Given the description of an element on the screen output the (x, y) to click on. 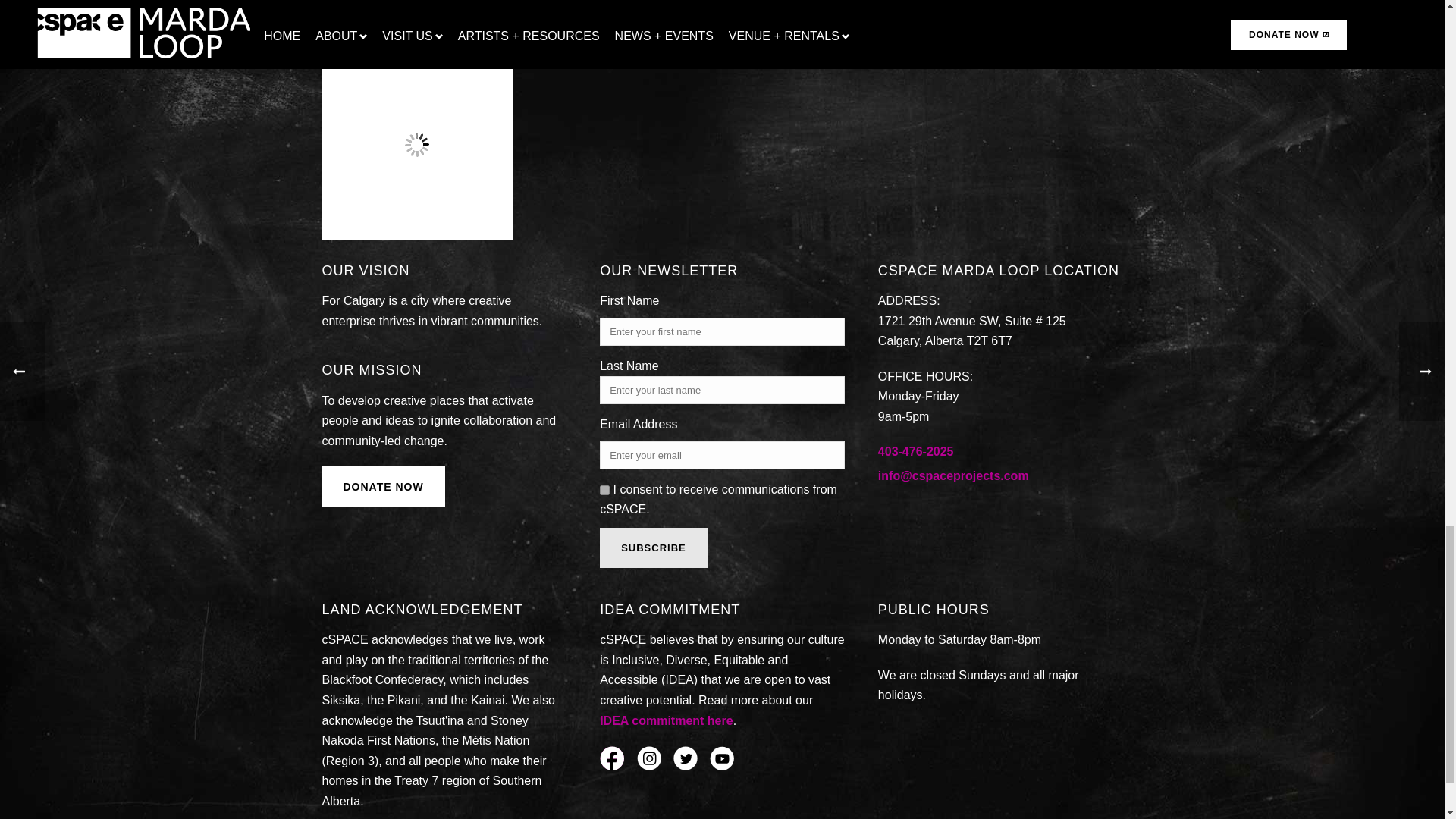
Subscribe (653, 547)
1 (604, 490)
